Given the description of an element on the screen output the (x, y) to click on. 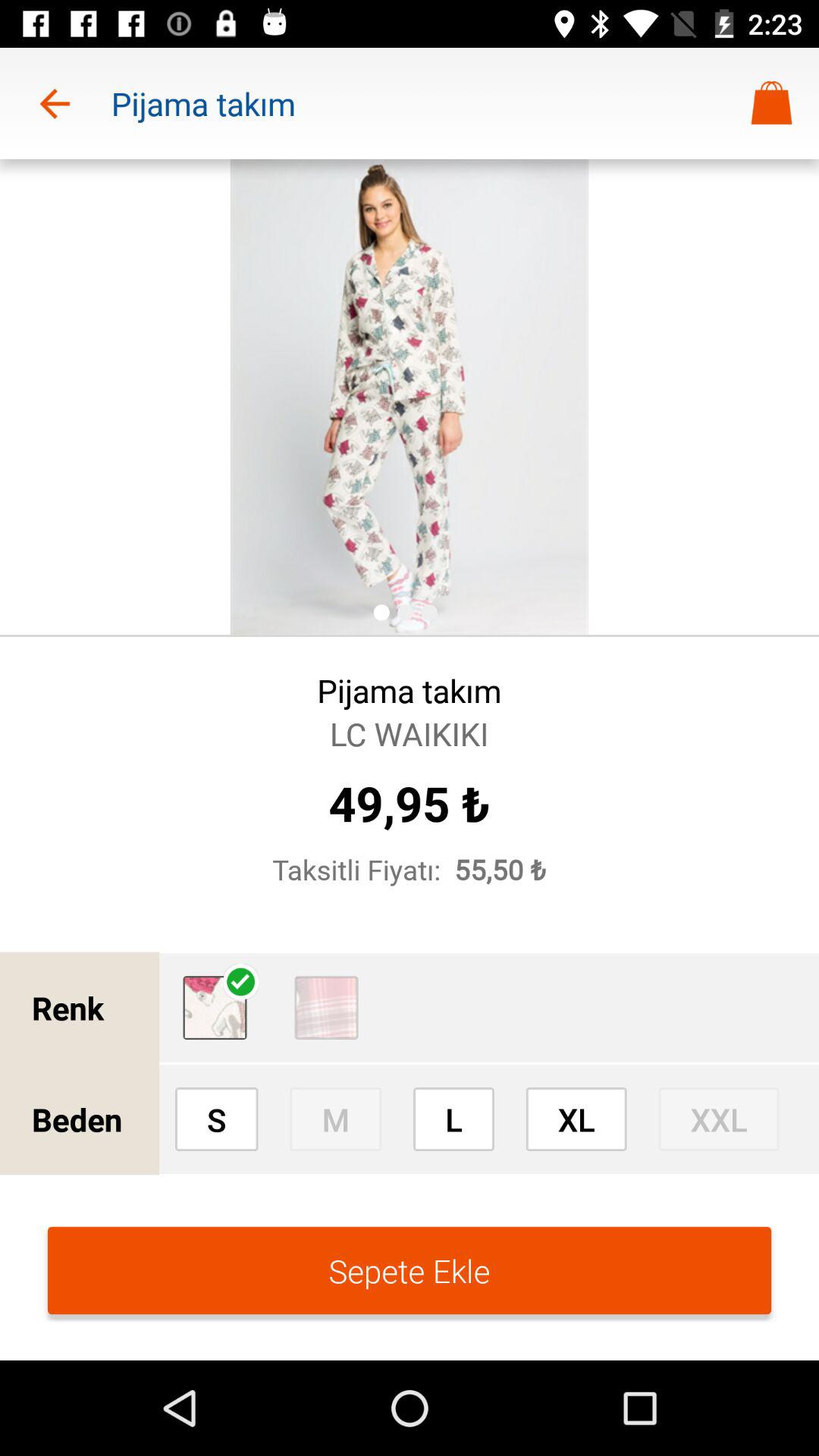
choose the icon below the beden icon (409, 1270)
